Given the description of an element on the screen output the (x, y) to click on. 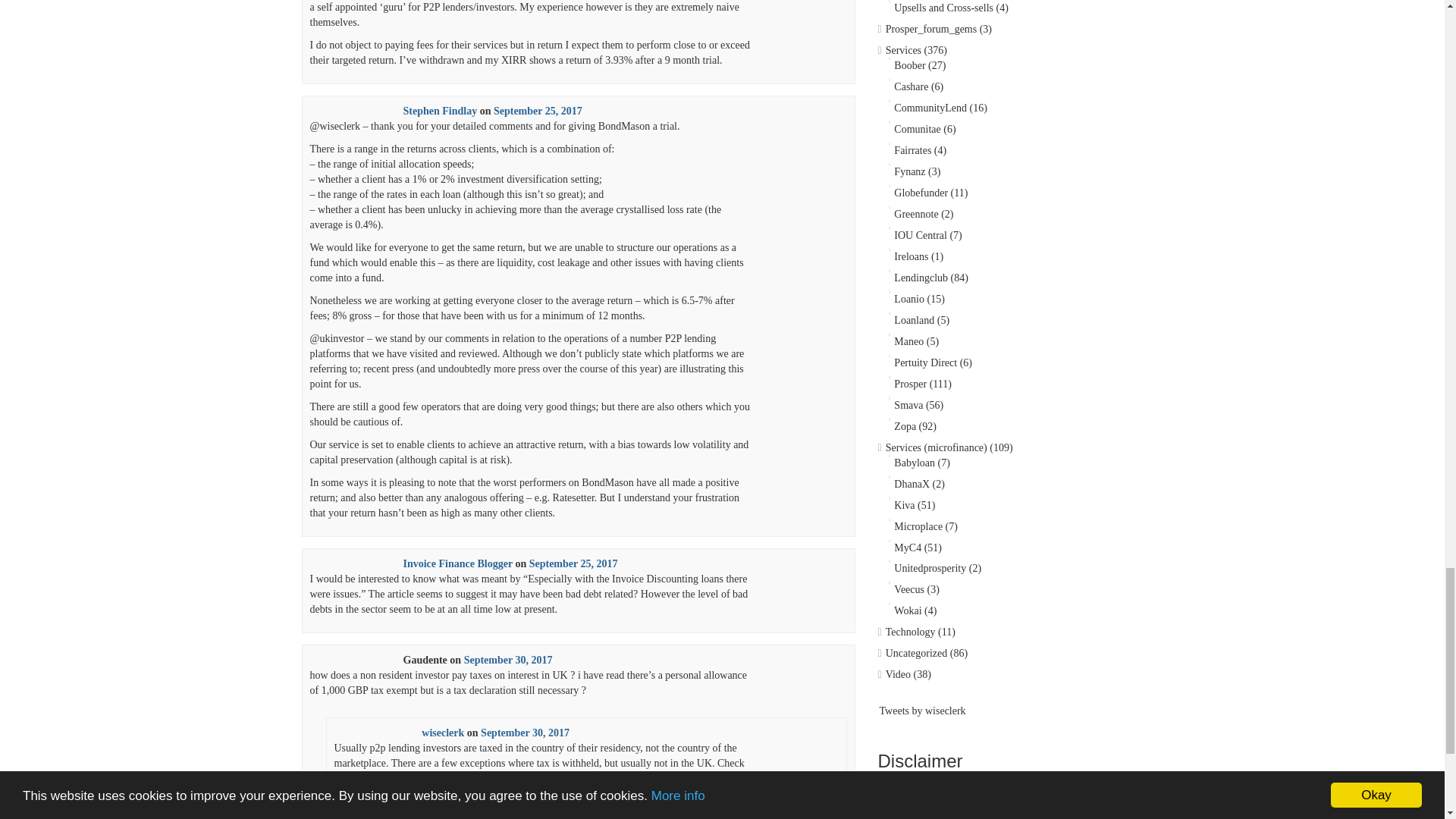
wiseclerk (443, 732)
September 25, 2017 (573, 563)
Stephen Findlay (440, 111)
Invoice Finance Blogger (457, 563)
September 25, 2017 (537, 111)
September 30, 2017 (524, 732)
September 30, 2017 (508, 659)
